Given the description of an element on the screen output the (x, y) to click on. 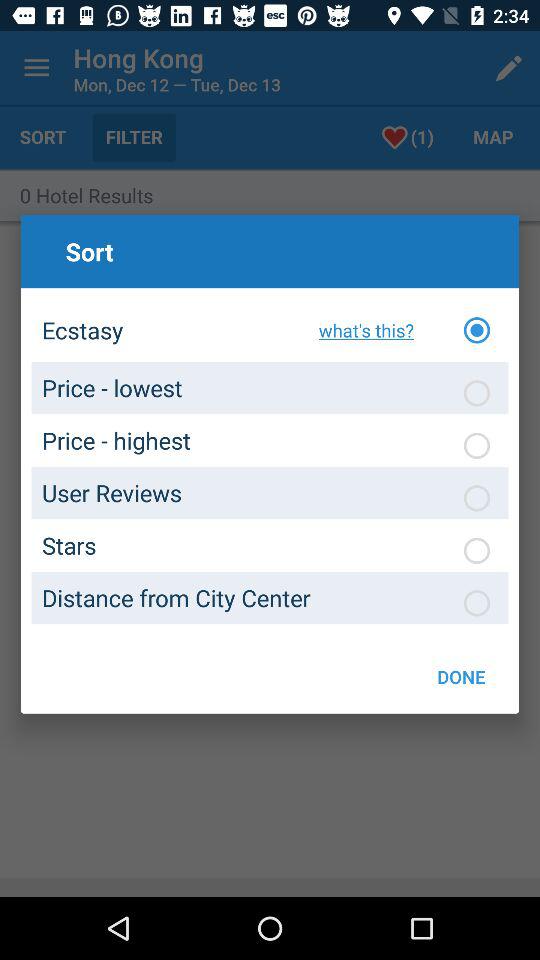
sort by price lowest first (477, 393)
